Given the description of an element on the screen output the (x, y) to click on. 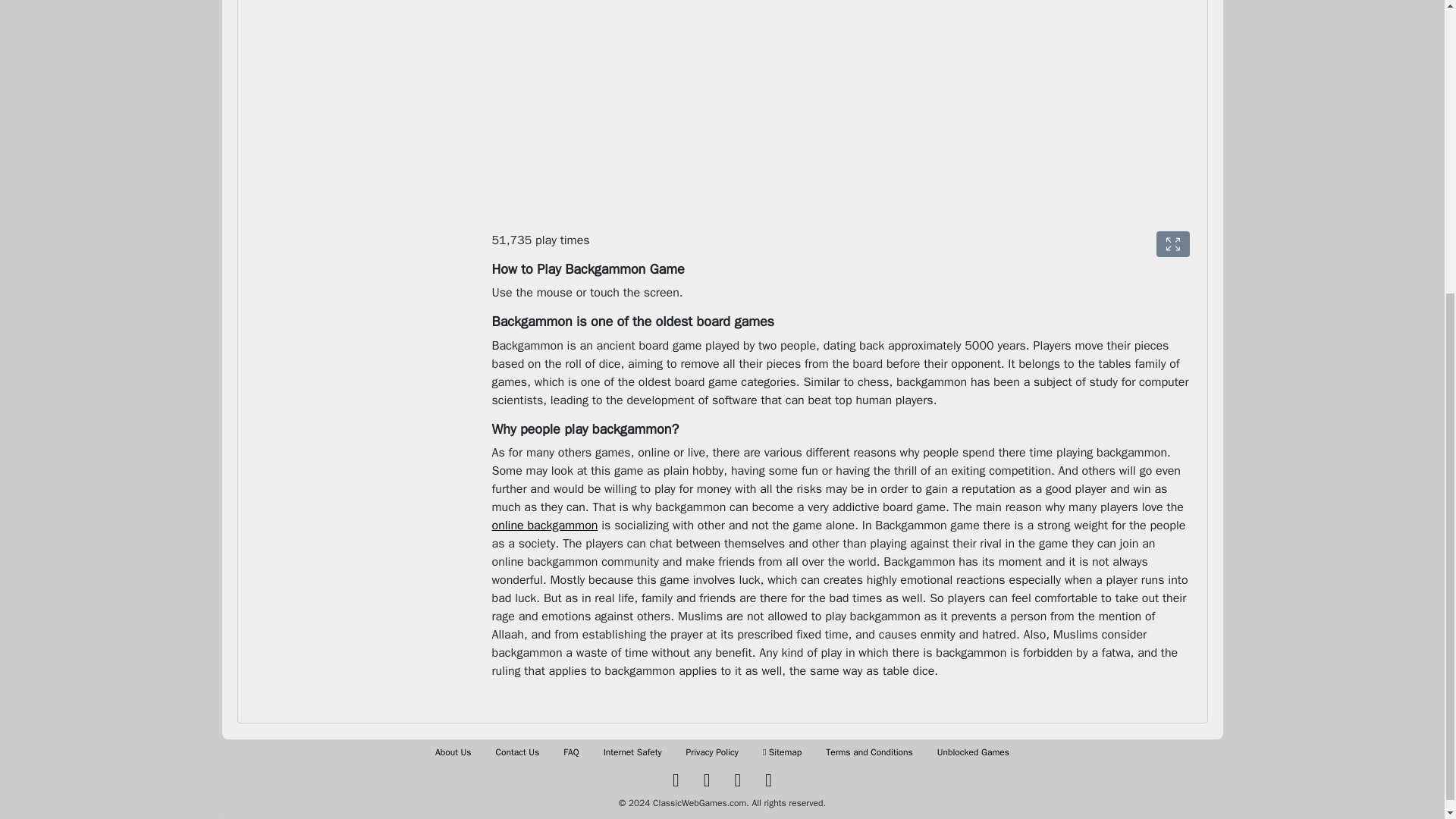
Privacy Policy (711, 752)
Internet Safety (633, 752)
About Us (452, 752)
Fullscreen (1172, 243)
Terms and Conditions (868, 752)
Contact Us (518, 752)
online backgammon (544, 525)
FAQ (570, 752)
Sitemap (782, 752)
Unblocked Games (973, 752)
